Given the description of an element on the screen output the (x, y) to click on. 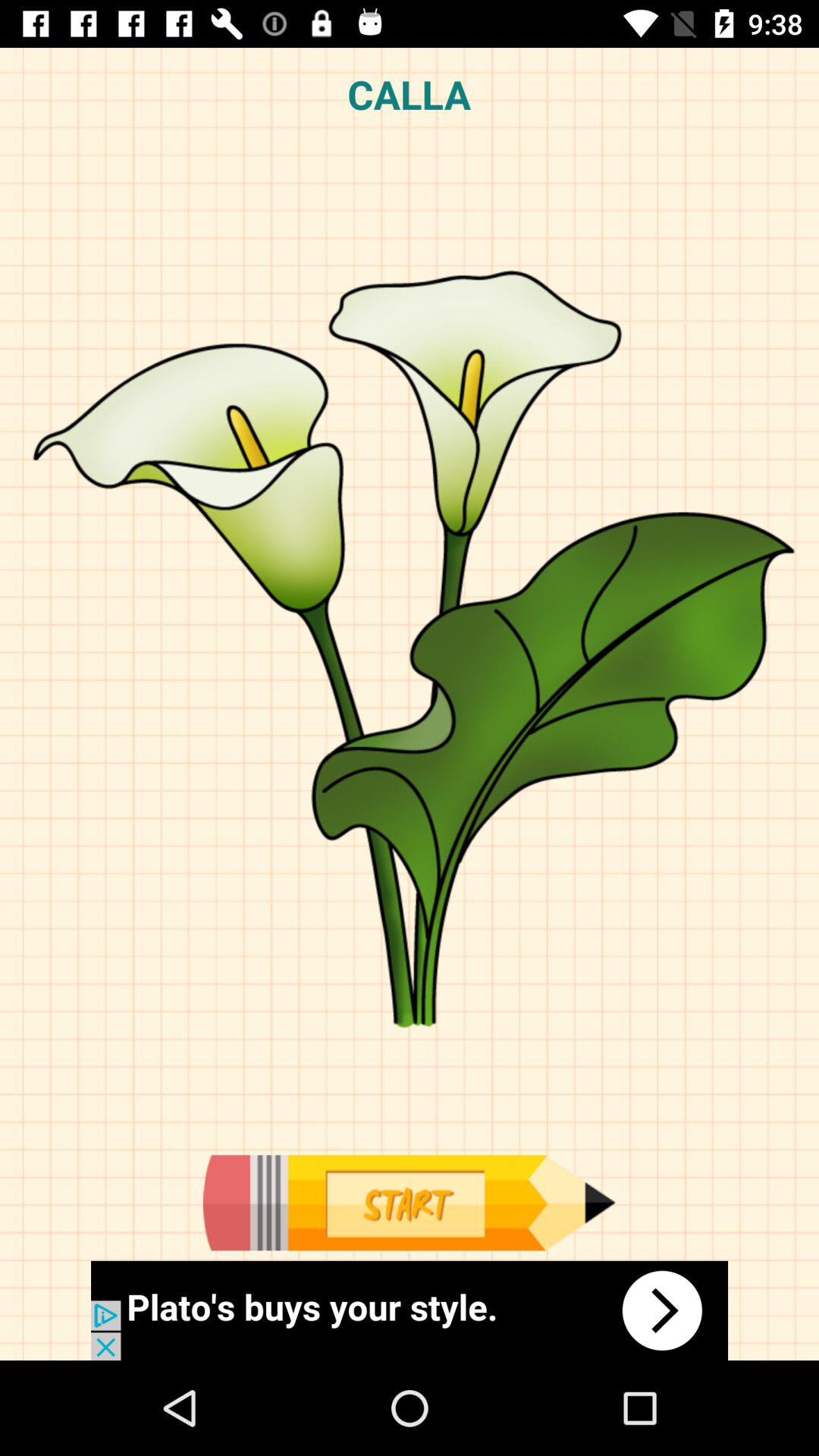
advertisement page (409, 1202)
